Given the description of an element on the screen output the (x, y) to click on. 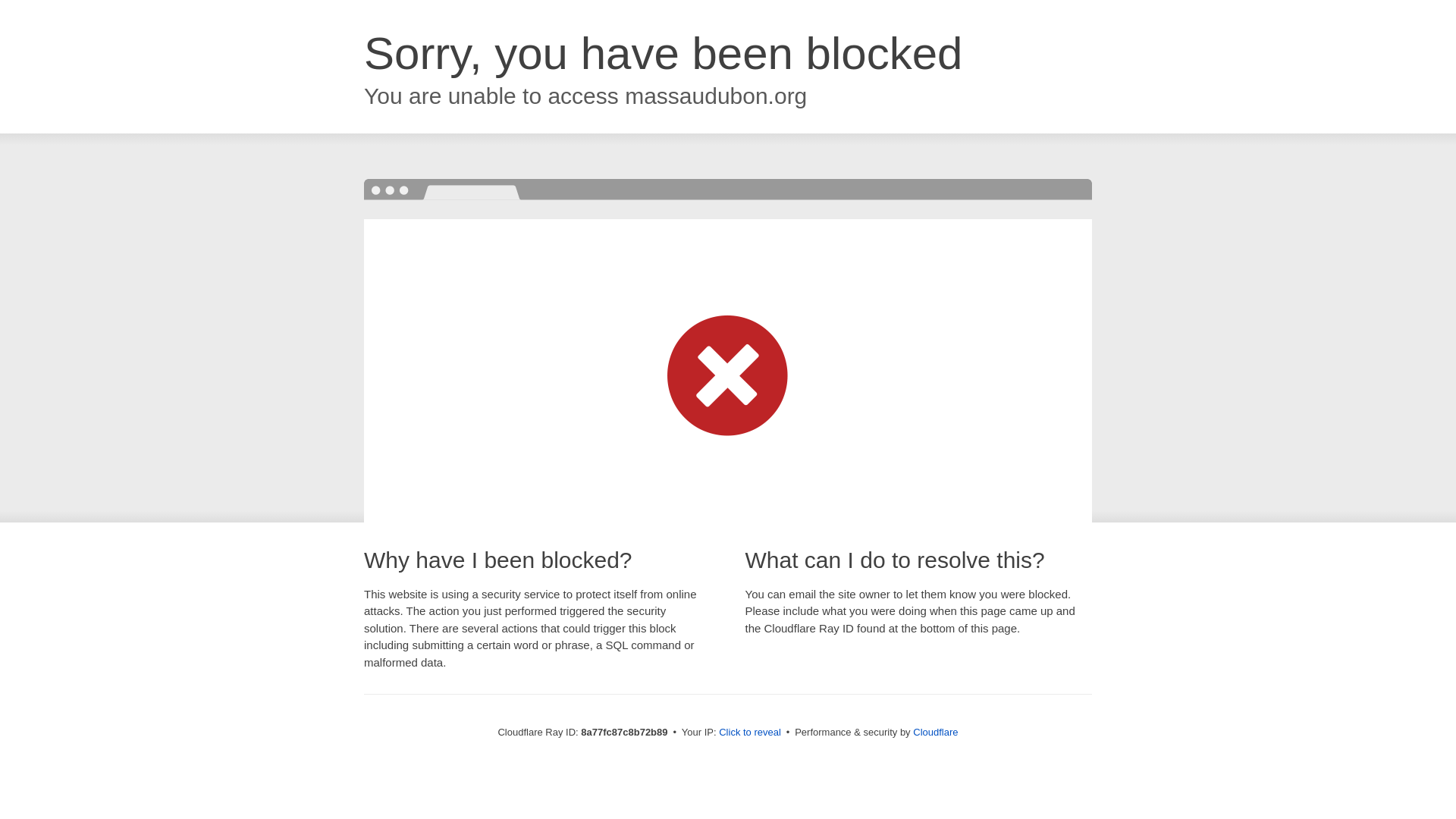
Cloudflare (935, 731)
Click to reveal (749, 732)
